Given the description of an element on the screen output the (x, y) to click on. 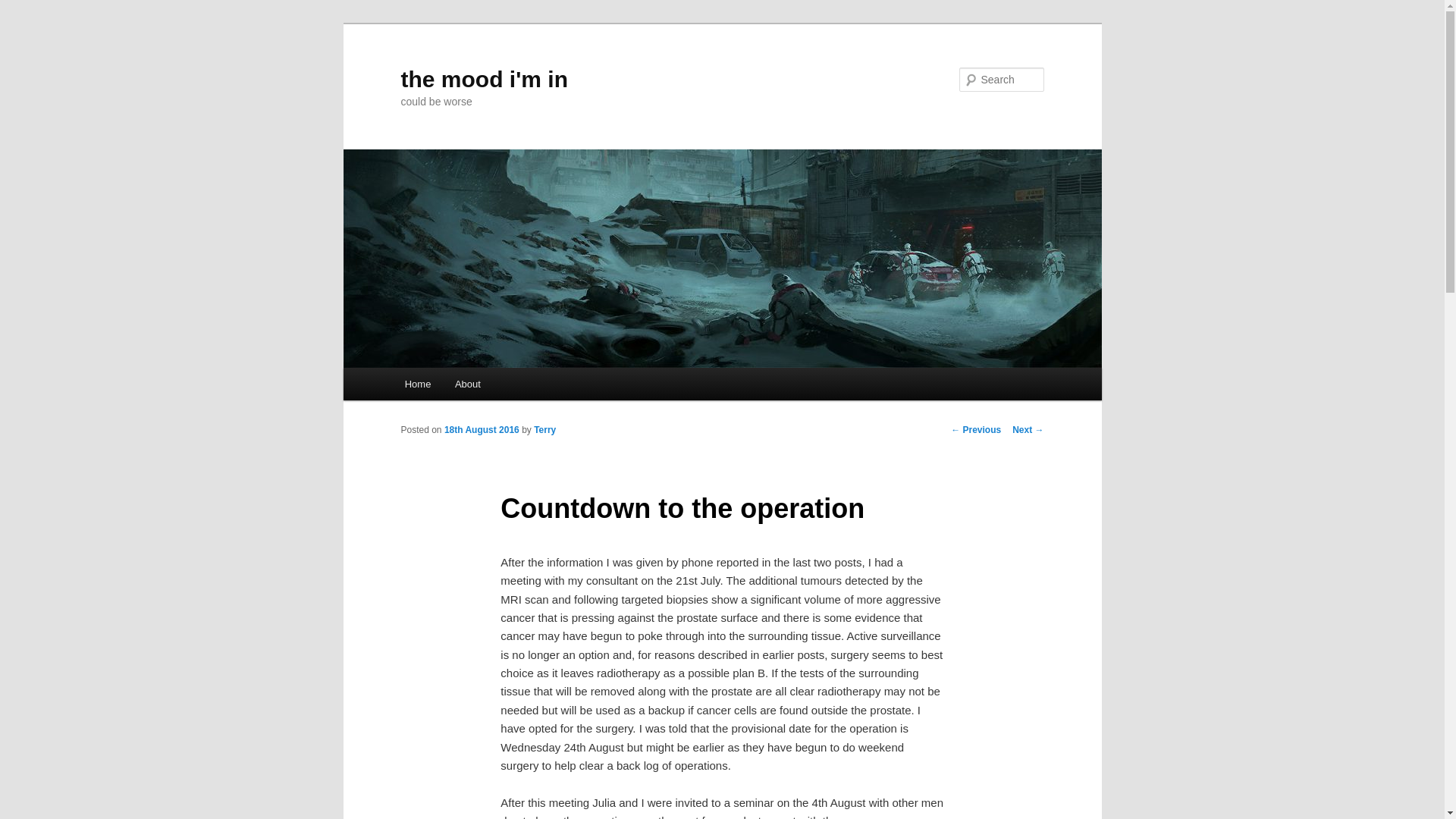
About (467, 383)
Search (24, 8)
Terry (545, 429)
18th August 2016 (481, 429)
Home (417, 383)
the mood i'm in (483, 78)
